Given the description of an element on the screen output the (x, y) to click on. 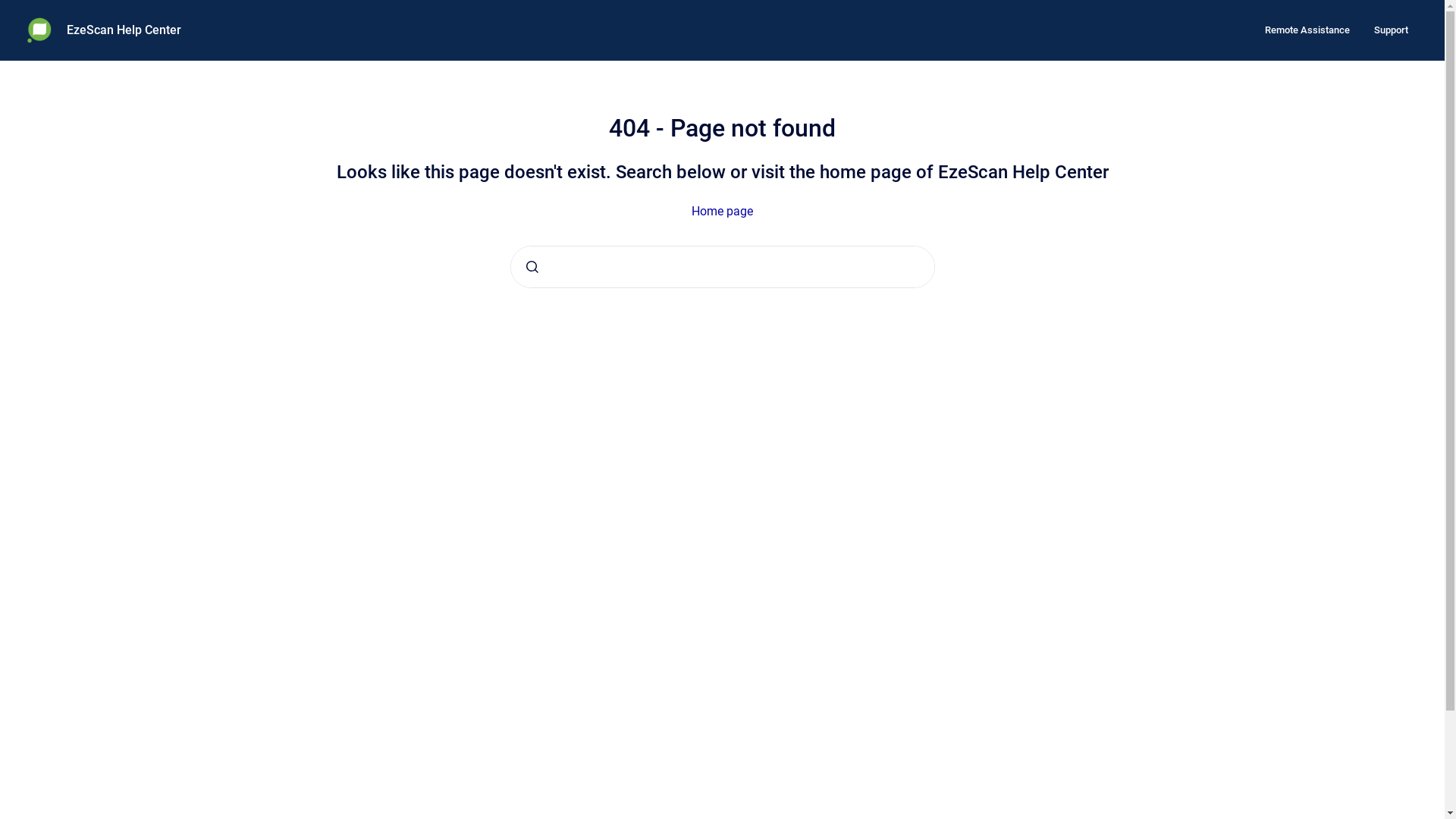
EzeScan Help Center Element type: text (123, 29)
Support Element type: text (1390, 30)
Remote Assistance Element type: text (1306, 30)
Go to homepage Element type: text (39, 30)
Home page Element type: text (722, 210)
